Given the description of an element on the screen output the (x, y) to click on. 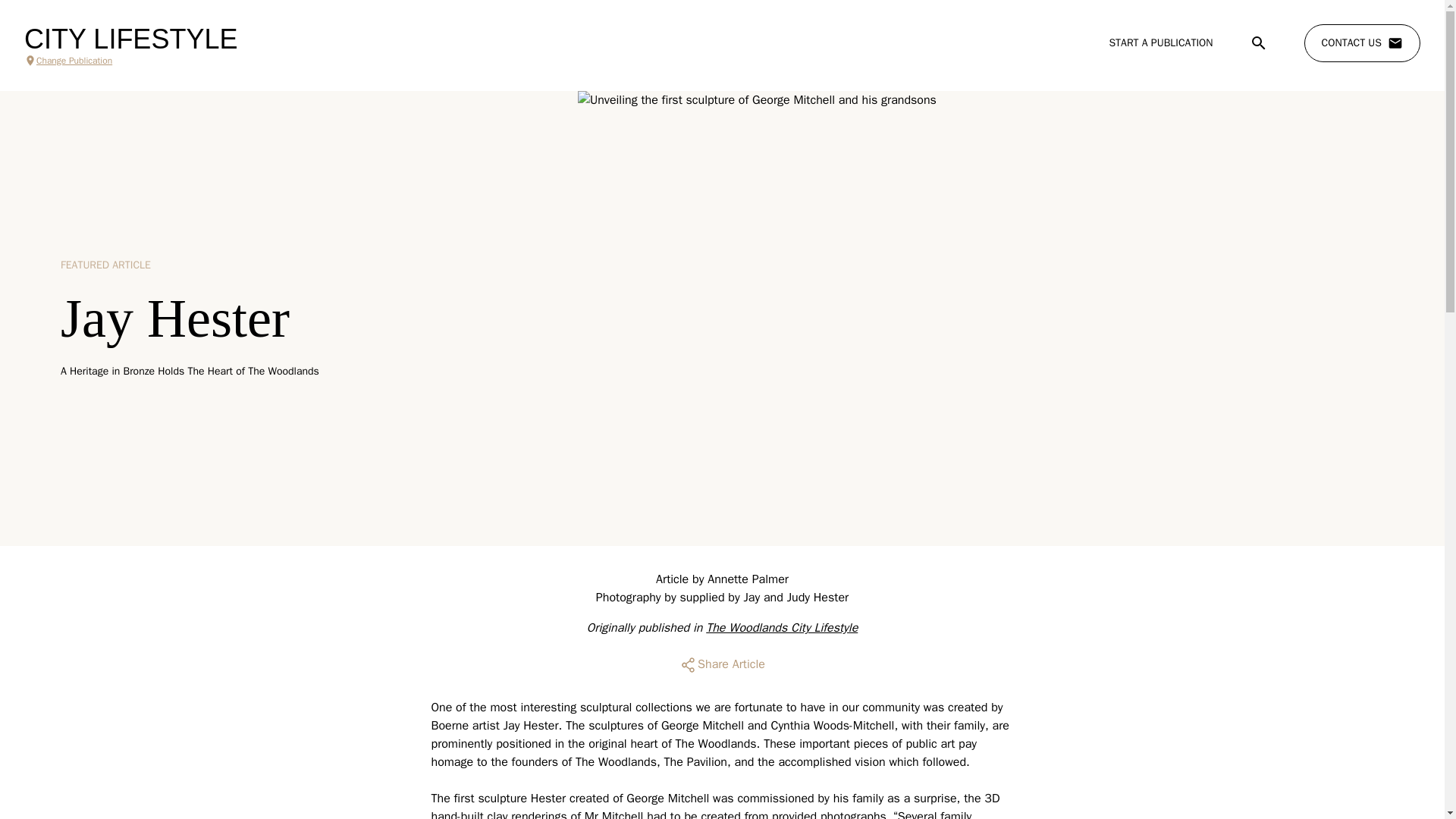
CONTACT US (1362, 43)
Change Publication (130, 60)
The Woodlands City Lifestyle (781, 627)
Share Article (722, 664)
START A PUBLICATION (1160, 42)
CITY LIFESTYLE (130, 39)
